Given the description of an element on the screen output the (x, y) to click on. 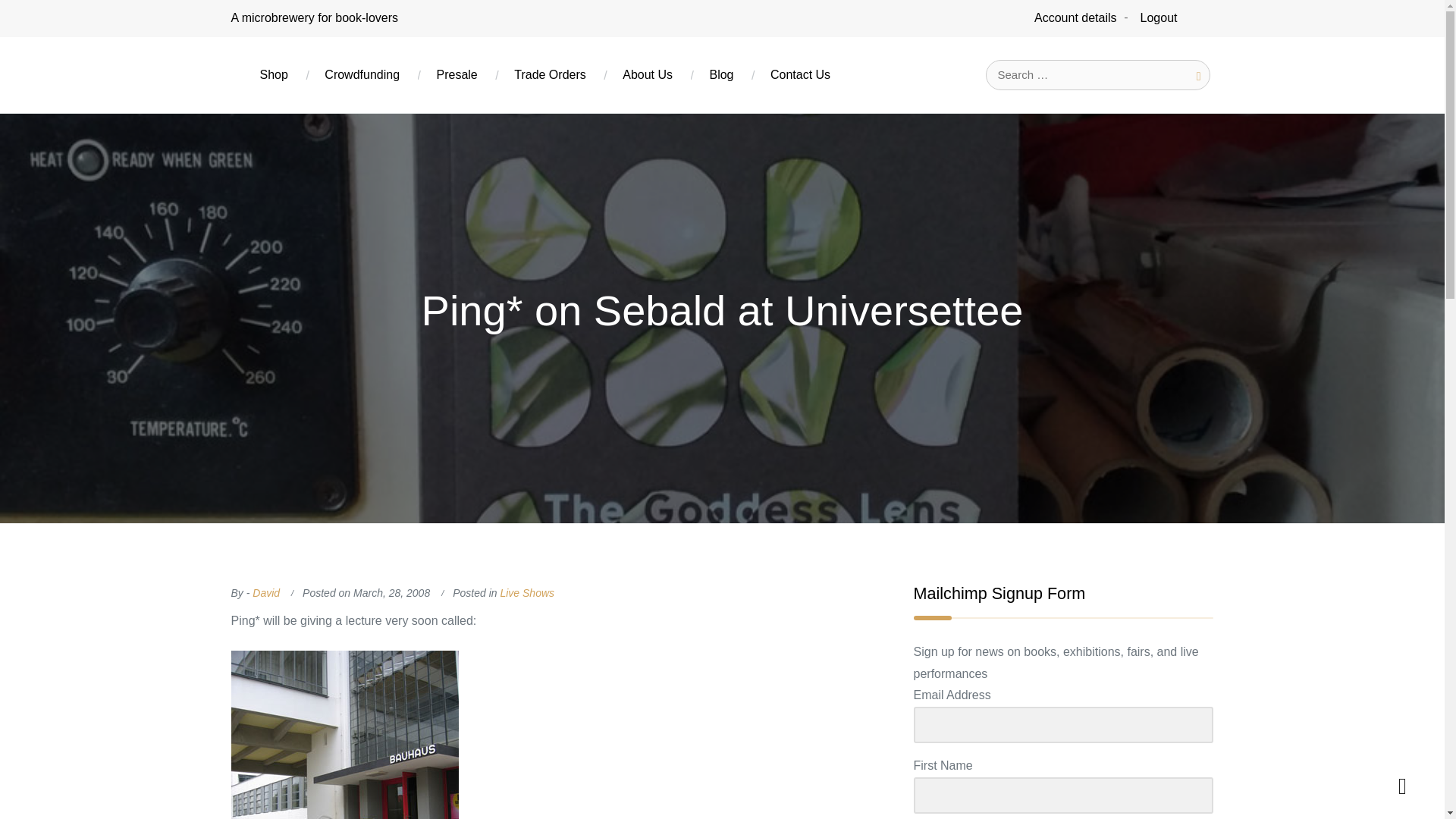
Presale (457, 74)
Live Shows (526, 592)
About Us (646, 74)
Crowdfunding (362, 74)
Logout (1158, 17)
Contact Us (800, 74)
David (265, 592)
Trade Orders (550, 74)
Blog (721, 74)
Account details (1075, 17)
